Given the description of an element on the screen output the (x, y) to click on. 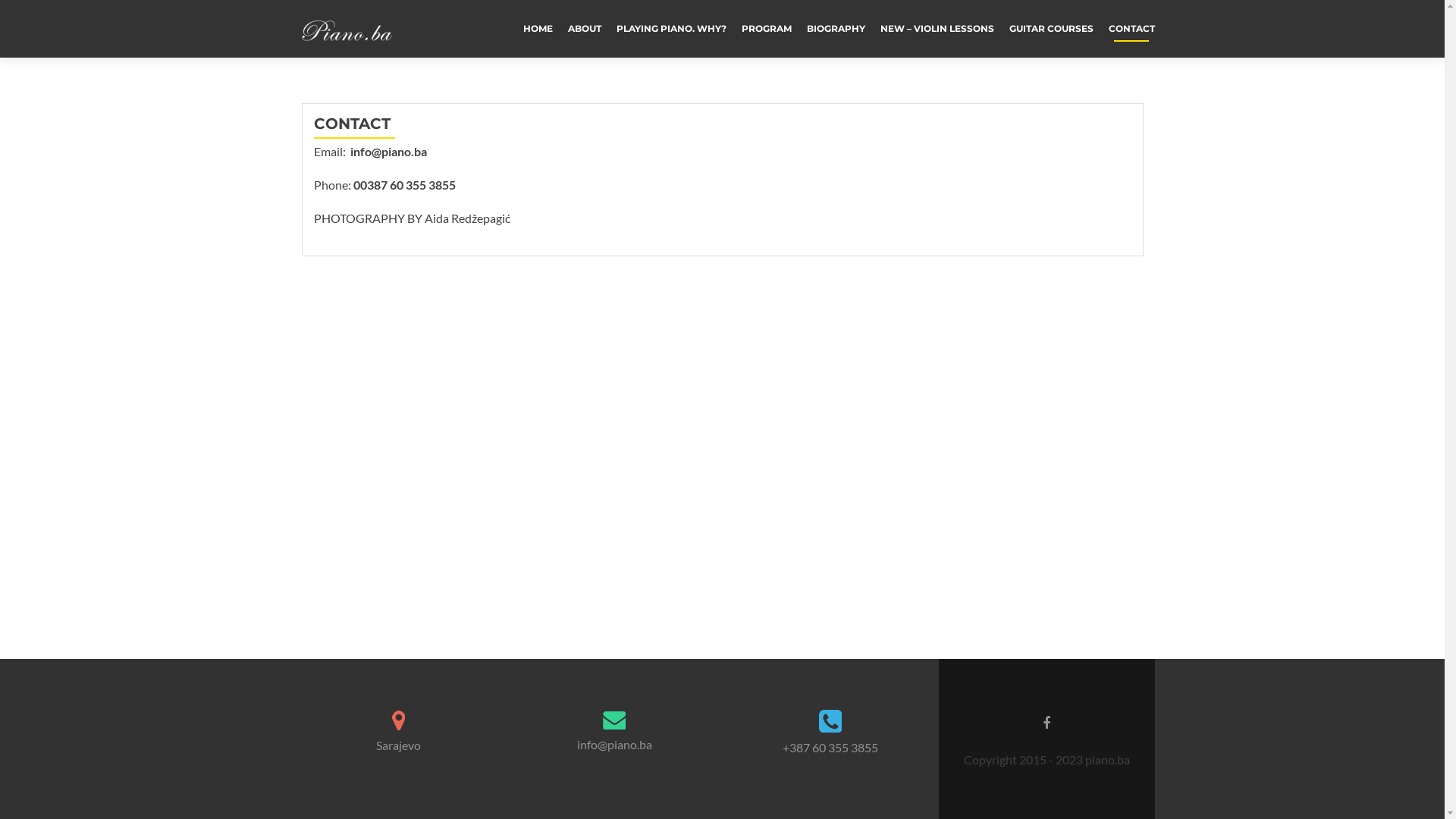
PROGRAM Element type: text (766, 28)
info@piano.ba Element type: text (613, 744)
ABOUT Element type: text (583, 28)
HOME Element type: text (537, 28)
BIOGRAPHY Element type: text (835, 28)
CONTACT Element type: text (1131, 28)
PLAYING PIANO. WHY? Element type: text (670, 28)
GUITAR COURSES Element type: text (1050, 28)
